Given the description of an element on the screen output the (x, y) to click on. 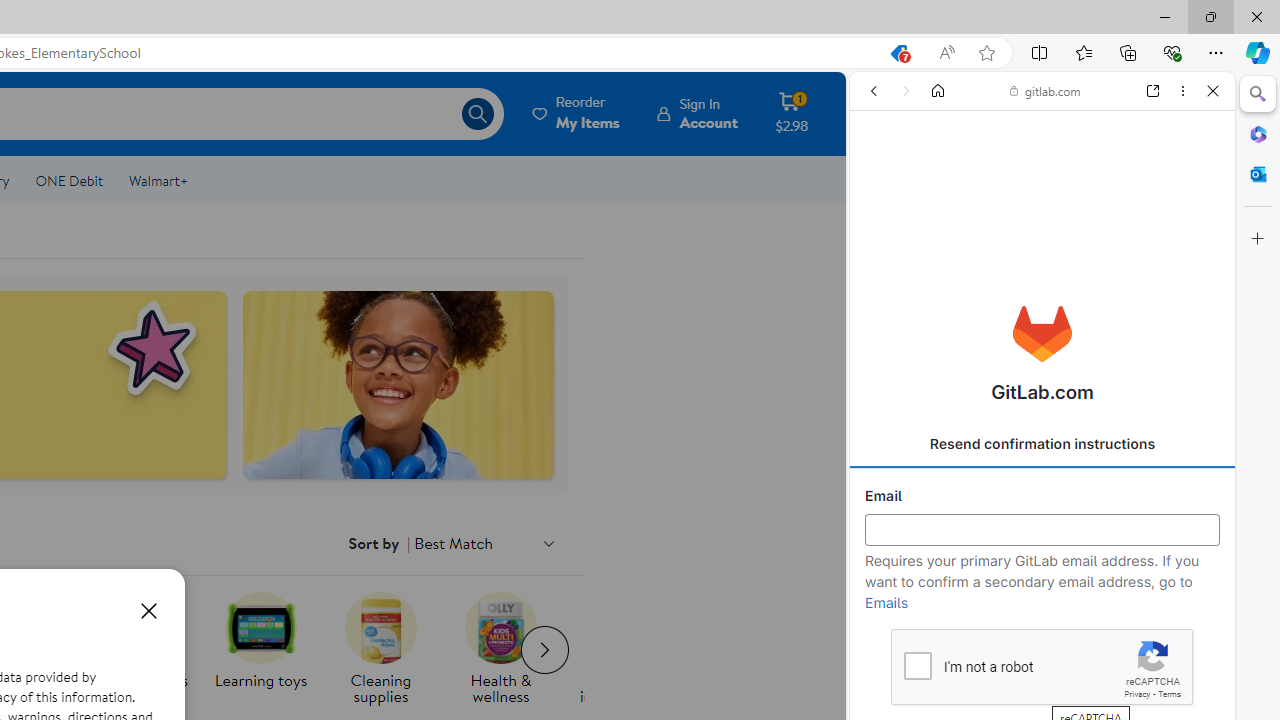
GitLab (1034, 288)
Confirmation Page (1042, 690)
Forward (906, 91)
GitLab.com (1042, 333)
Login (1042, 494)
Search the web (1051, 137)
Login (1042, 494)
Dashboard (1042, 641)
Open link in new tab (1153, 91)
Dashboard (1042, 641)
